Given the description of an element on the screen output the (x, y) to click on. 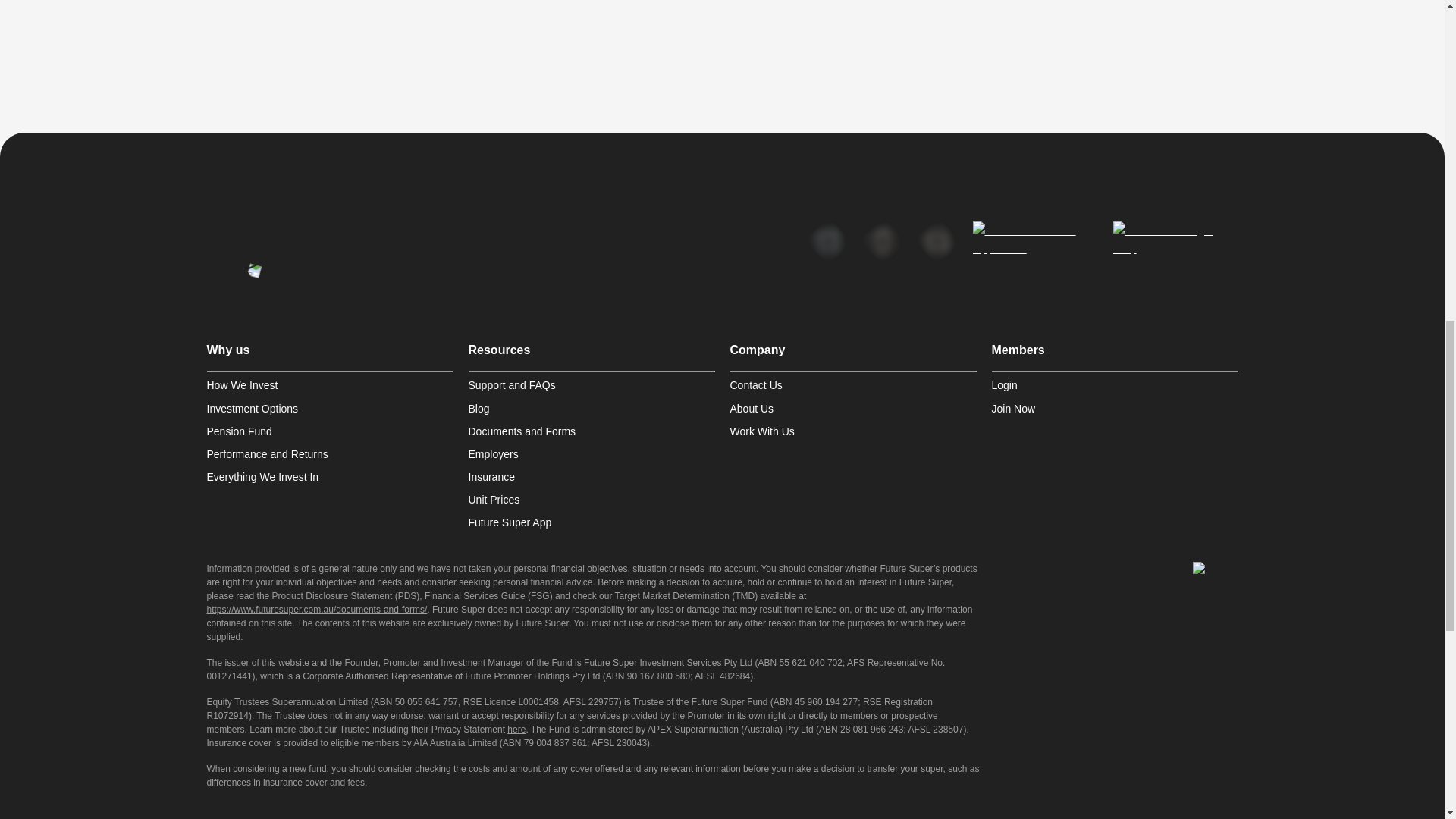
Everything We Invest In (329, 477)
Unit Prices (591, 499)
here (515, 728)
Insurance (591, 477)
Blog (591, 408)
Privacy Policy (416, 818)
Employers (591, 454)
Login (1115, 385)
How We Invest (329, 385)
